Given the description of an element on the screen output the (x, y) to click on. 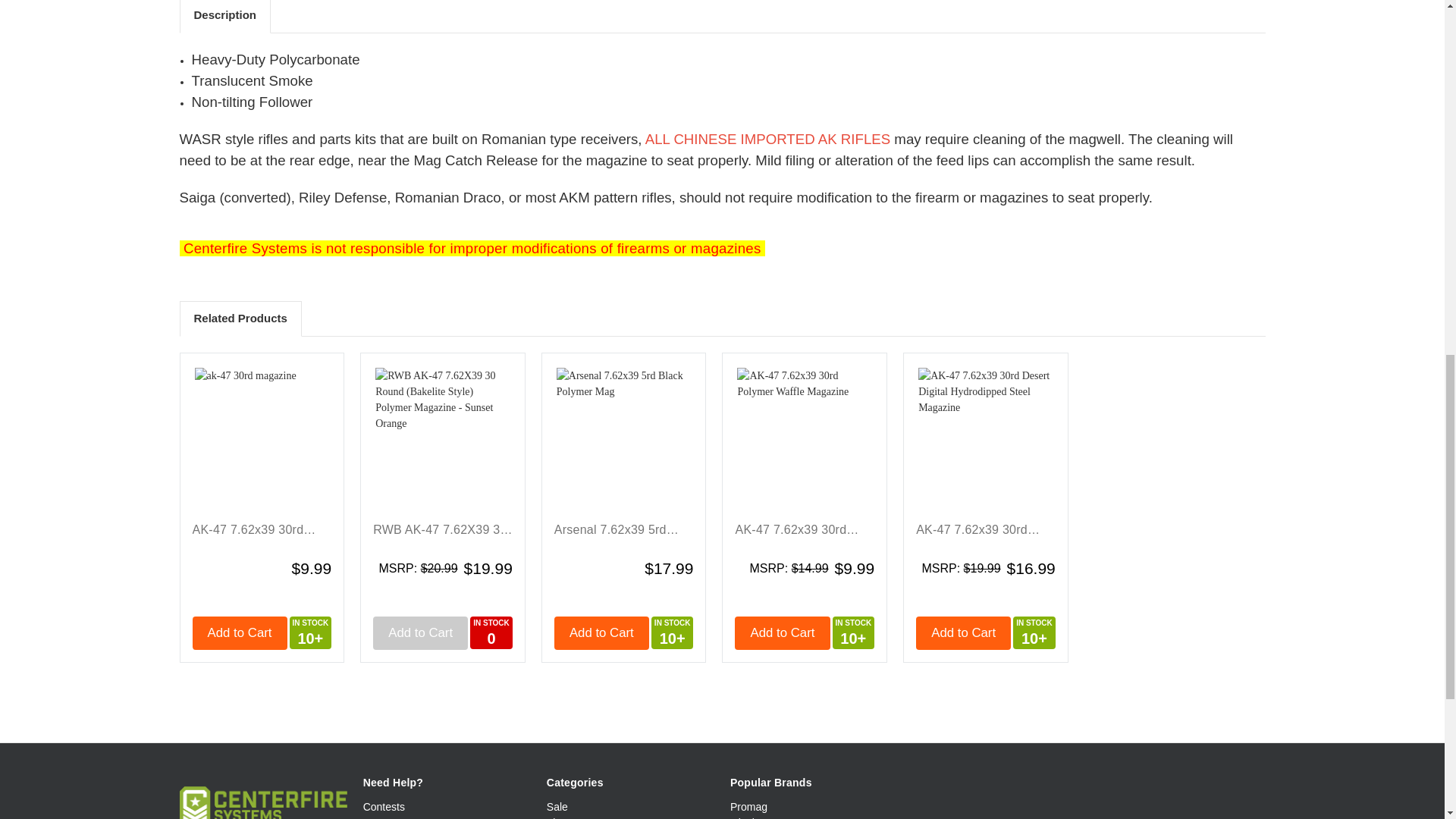
ak-47 30rd magazine (261, 438)
Arsenal 7.62x39 5rd Black Polymer Mag (623, 438)
AK-47 7.62x39 30rd Polymer Waffle Magazine (804, 438)
